Given the description of an element on the screen output the (x, y) to click on. 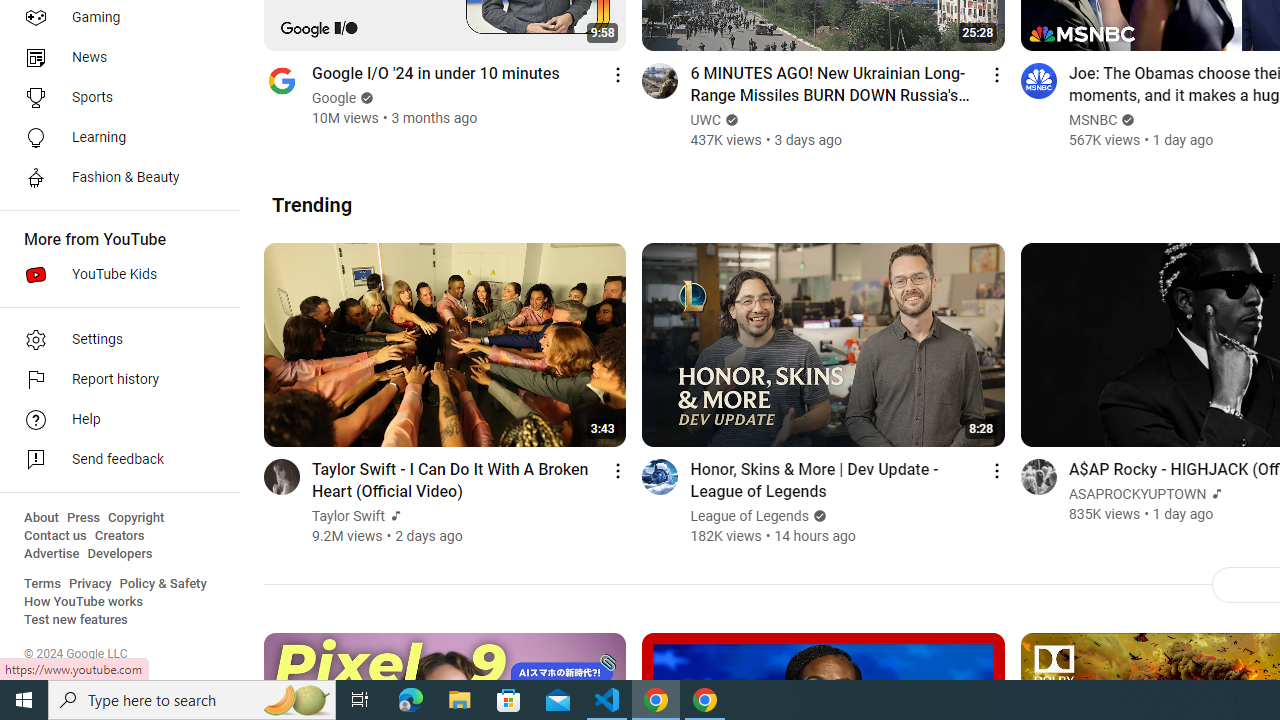
Send feedback (113, 459)
Advertise (51, 554)
YouTube Kids (113, 274)
Contact us (55, 536)
Test new features (76, 620)
Learning (113, 137)
Verified (816, 516)
Report history (113, 380)
Taylor Swift (349, 516)
Privacy (89, 584)
Policy & Safety (163, 584)
League of Legends (750, 516)
